Given the description of an element on the screen output the (x, y) to click on. 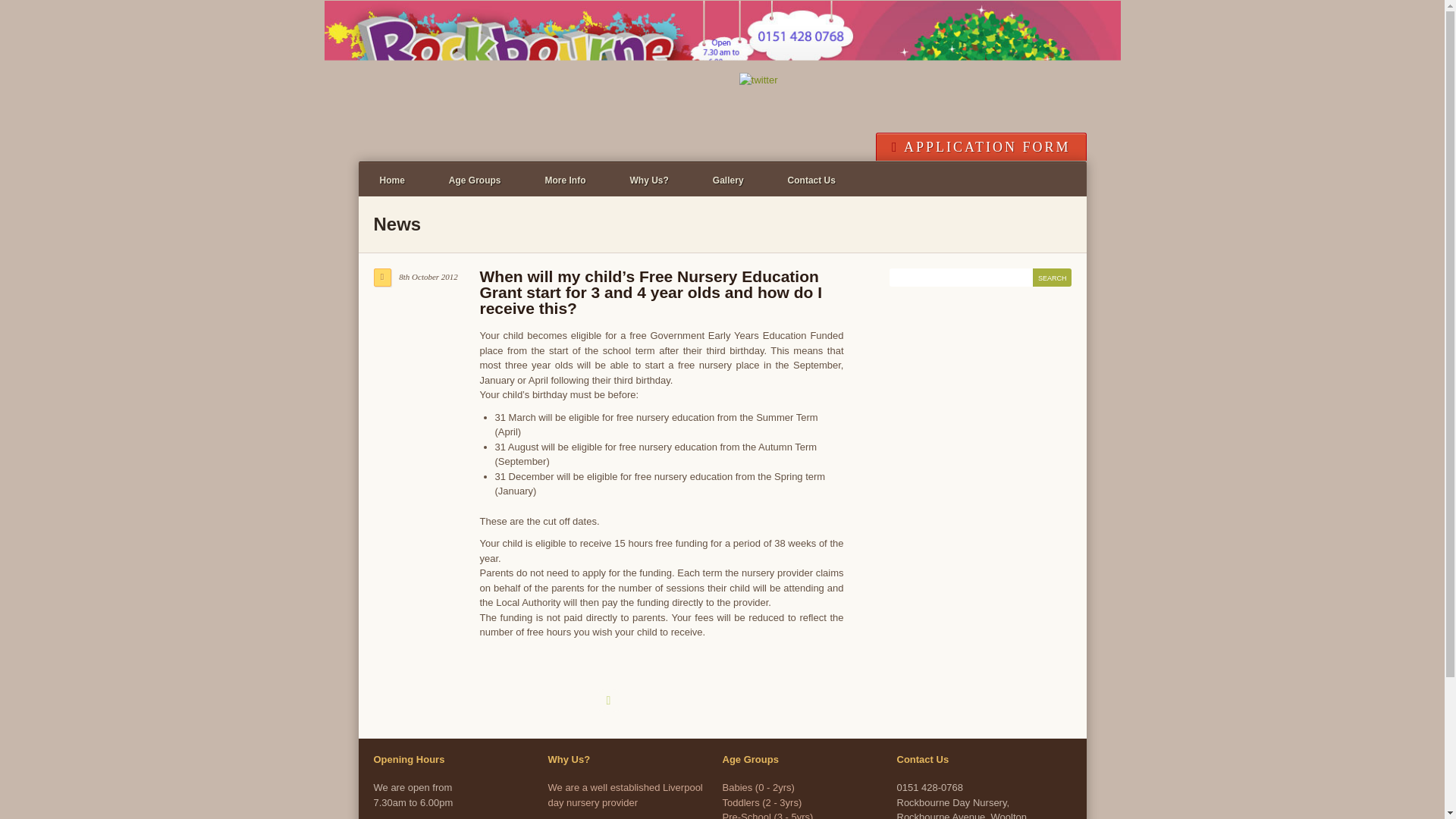
Why Us? (649, 180)
Rockbourne Day Nursery (722, 83)
Search (1051, 277)
Contact Us (812, 180)
Search (1051, 277)
We are a well established Liverpool day nursery provider (624, 795)
twitter (758, 79)
Age Groups (475, 180)
Home (391, 180)
More Info (565, 180)
